Given the description of an element on the screen output the (x, y) to click on. 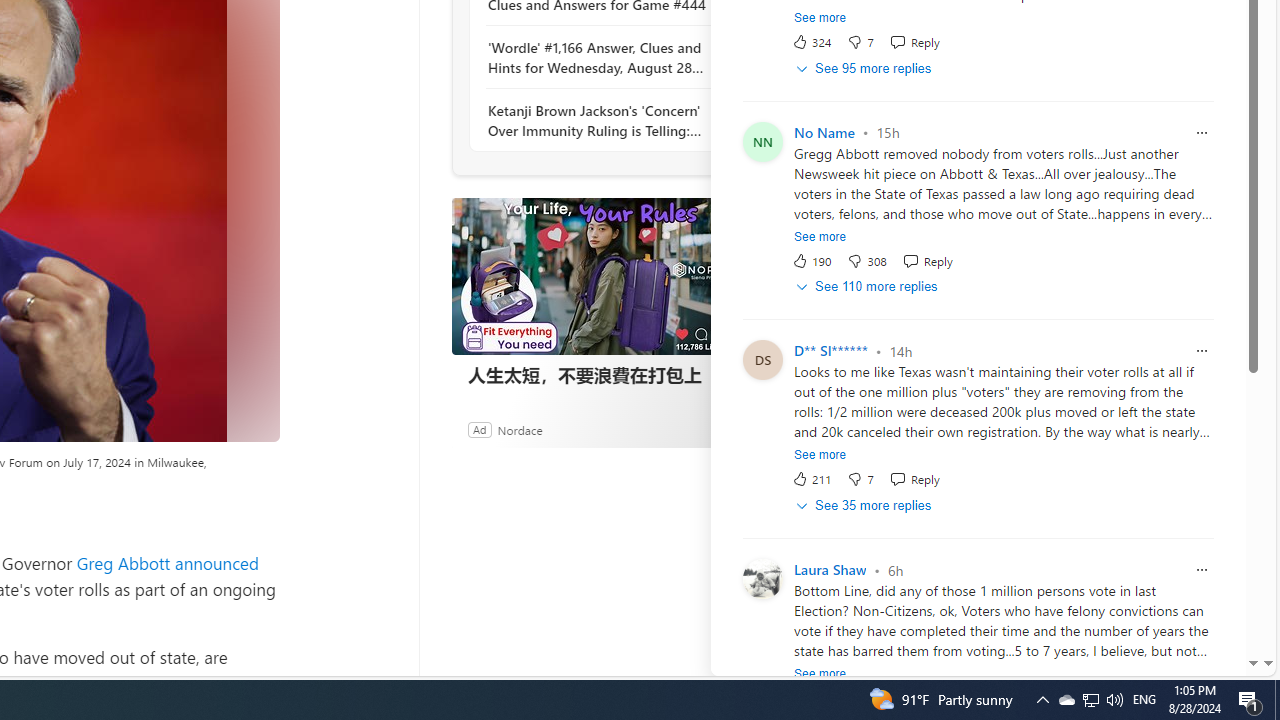
324 Like (811, 42)
D** Sl****** (830, 351)
Reply Reply Comment (914, 479)
See 35 more replies (864, 506)
Report comment (1201, 569)
Profile Picture (762, 578)
See 110 more replies (868, 287)
211 Like (811, 479)
